Given the description of an element on the screen output the (x, y) to click on. 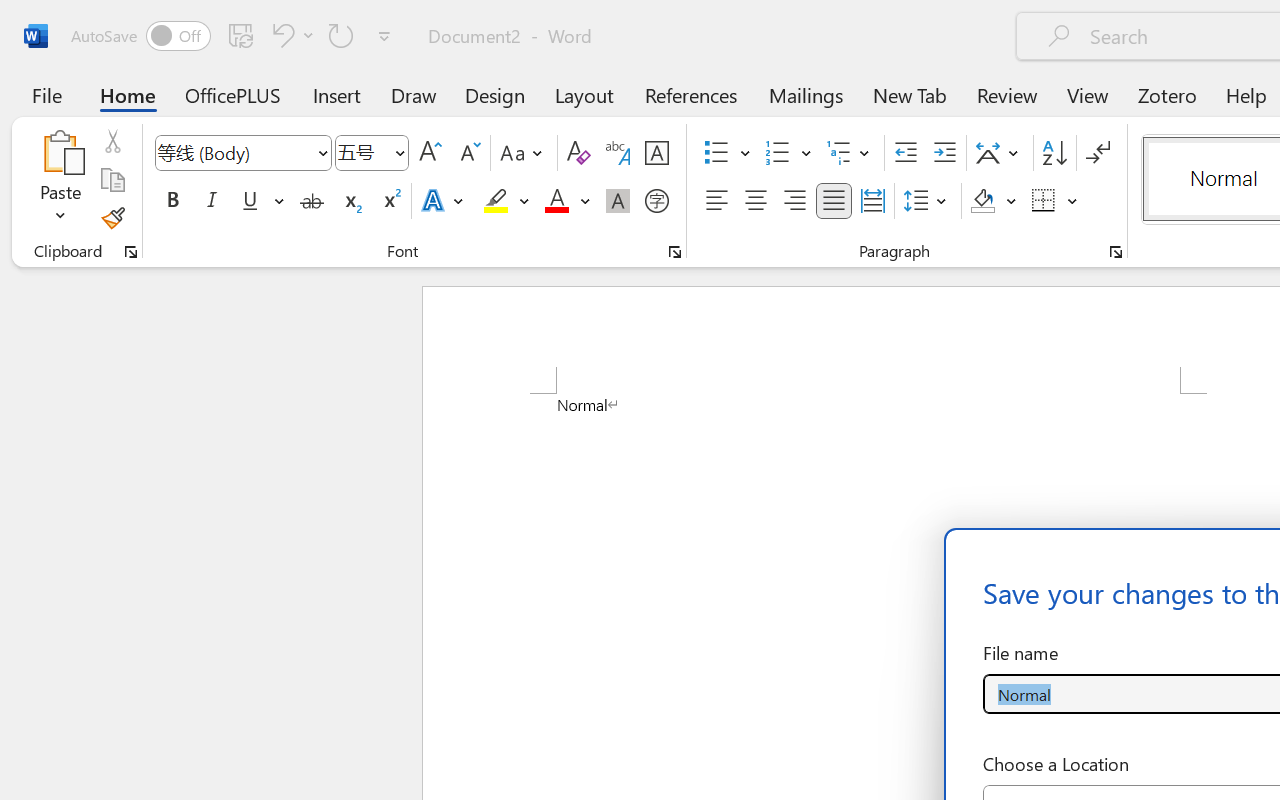
Font Color (567, 201)
Undo Apply Quick Style (290, 35)
Font Size (372, 153)
Underline (250, 201)
Show/Hide Editing Marks (1098, 153)
Superscript (390, 201)
Grow Font (430, 153)
OfficePLUS (233, 94)
Text Effects and Typography (444, 201)
Copy (112, 179)
Shading (993, 201)
Align Right (794, 201)
Paragraph... (1115, 252)
Borders (1044, 201)
File Tab (46, 94)
